Given the description of an element on the screen output the (x, y) to click on. 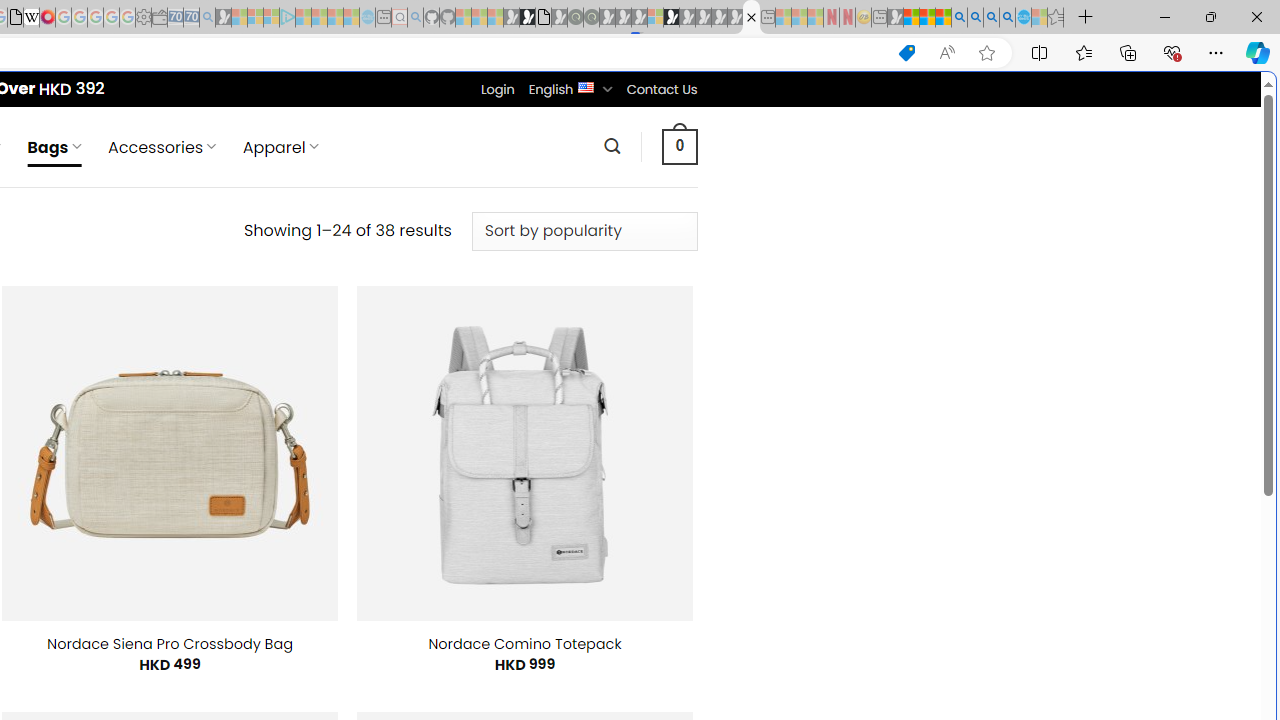
Close split screen (844, 102)
  0   (679, 146)
Nordace Siena Pro Crossbody Bag (170, 643)
Future Focus Report 2024 - Sleeping (591, 17)
